Given the description of an element on the screen output the (x, y) to click on. 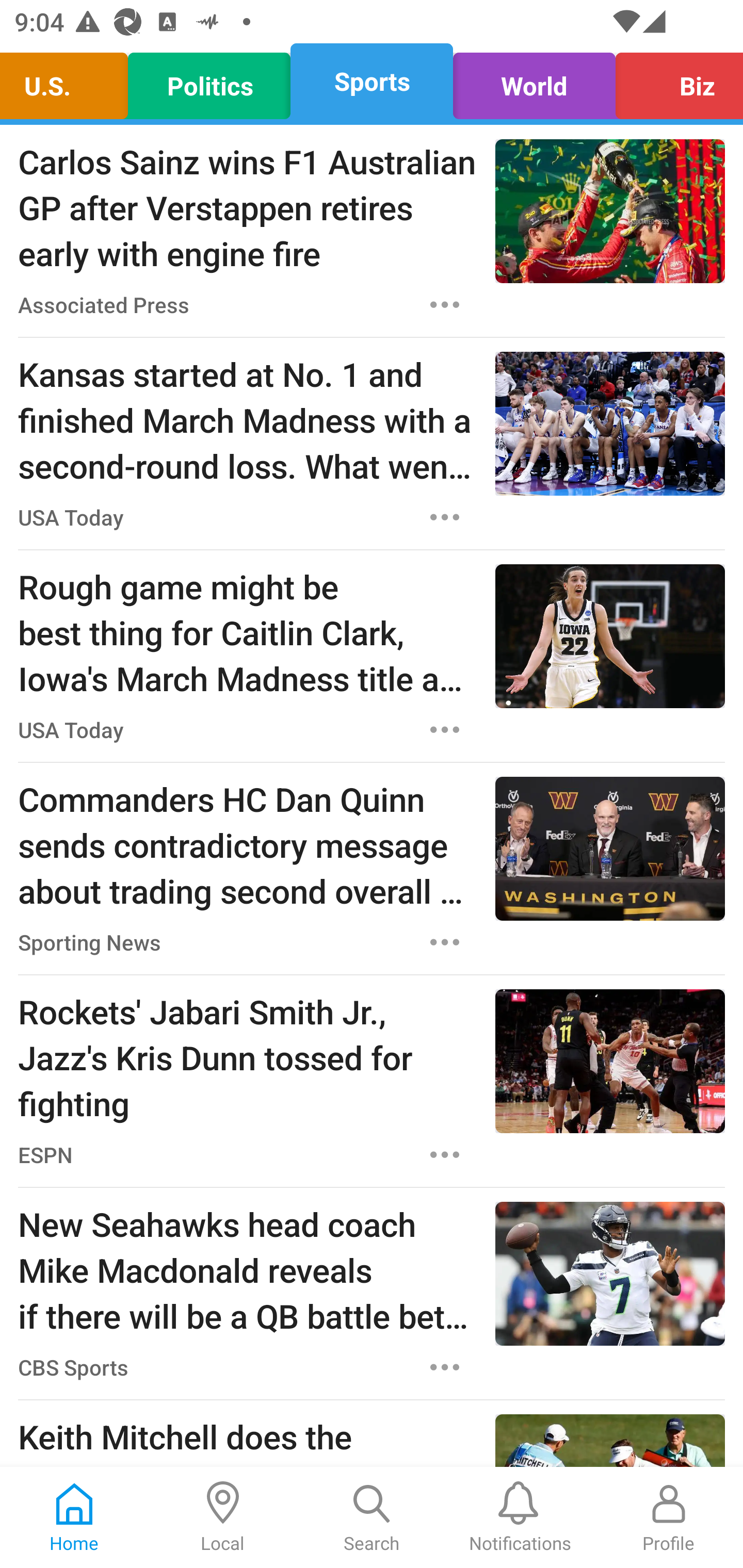
U.S. (69, 81)
Politics (209, 81)
Sports (371, 81)
World (534, 81)
Biz (673, 81)
Options (444, 304)
Options (444, 517)
Options (444, 729)
Options (444, 942)
Options (444, 1154)
Options (444, 1367)
Local (222, 1517)
Search (371, 1517)
Notifications (519, 1517)
Profile (668, 1517)
